Given the description of an element on the screen output the (x, y) to click on. 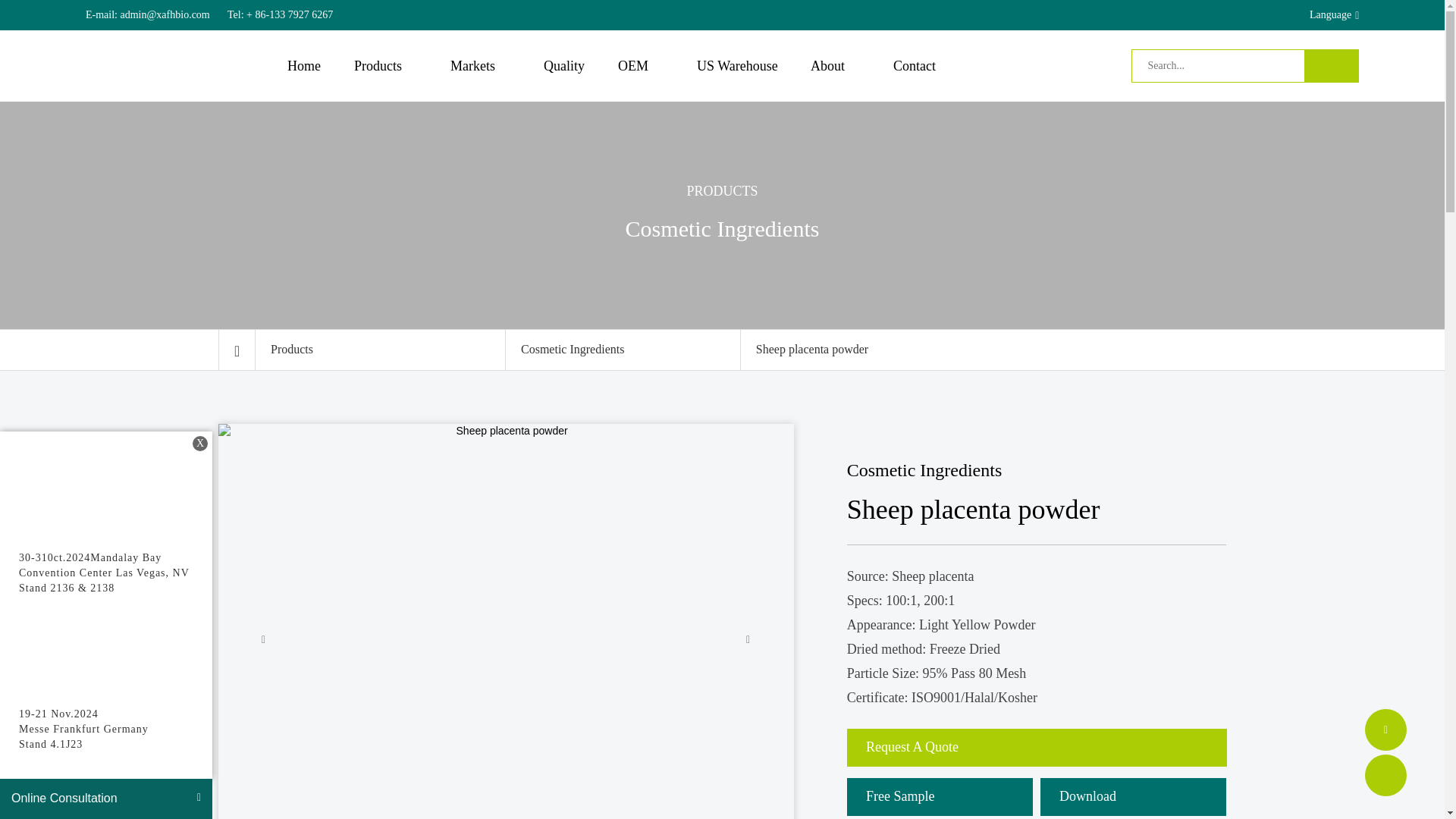
Language (1321, 14)
Go to FocusHerb. (237, 350)
Go to the Cosmetic Ingredients Category archives. (623, 350)
Products (384, 65)
Go to the products (380, 350)
